Given the description of an element on the screen output the (x, y) to click on. 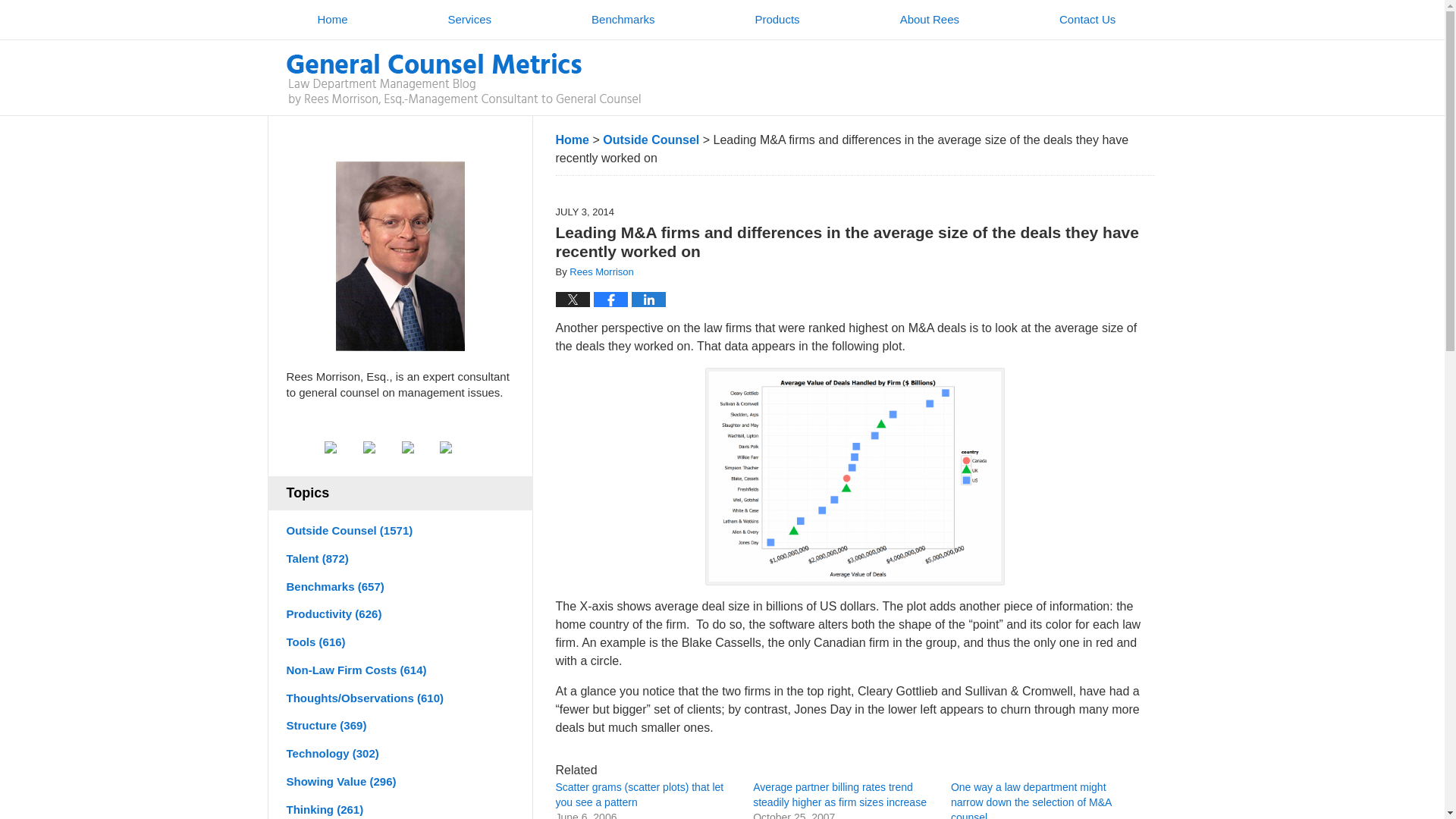
Contact Us (1087, 19)
Justia (419, 447)
About Rees (929, 19)
Rees Morrison (601, 271)
Feed (457, 447)
Home (331, 19)
Benchmarks (622, 19)
Home (571, 139)
Law Department Management Blog (463, 79)
